Given the description of an element on the screen output the (x, y) to click on. 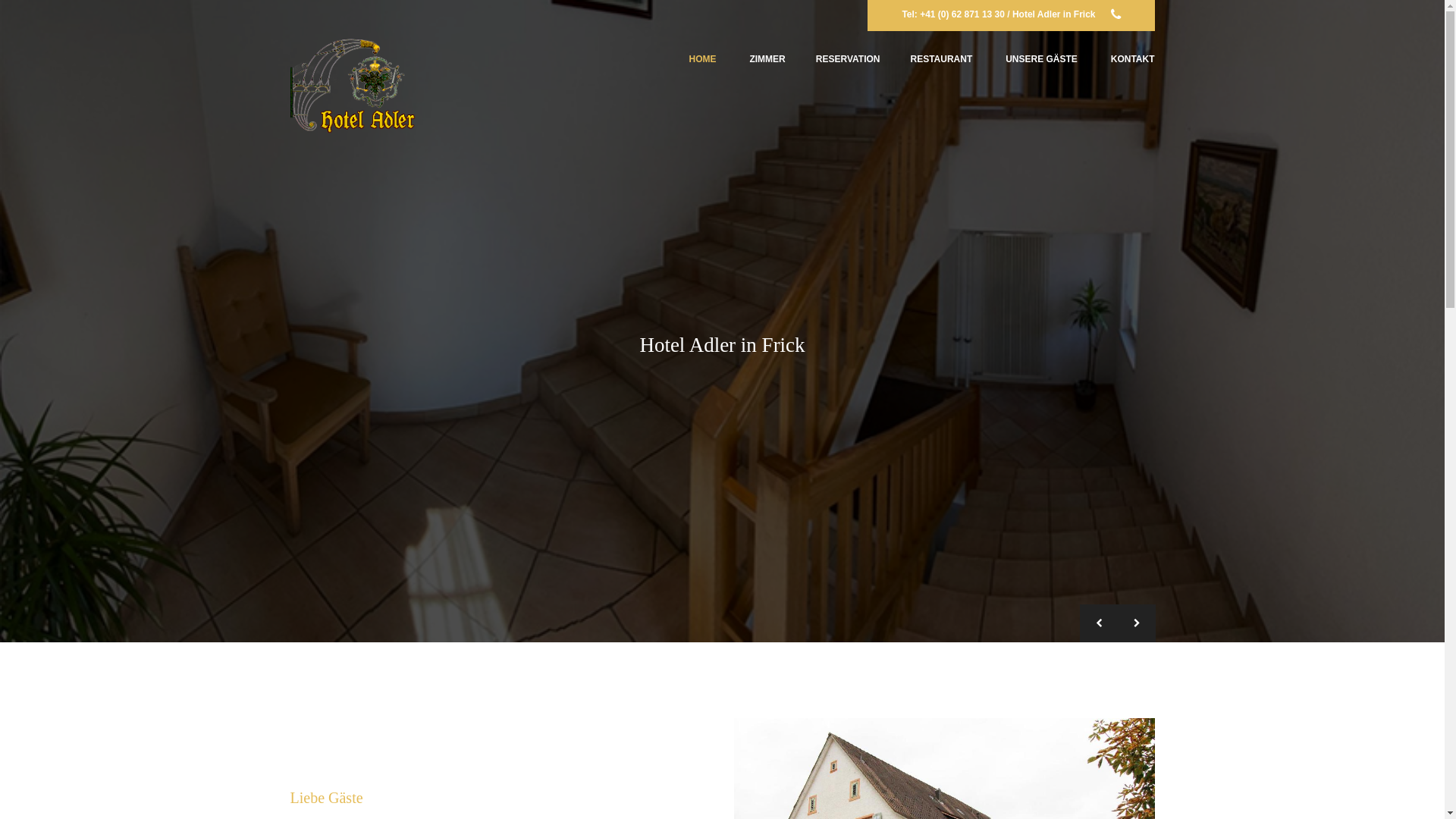
ZIMMER Element type: text (766, 59)
RESERVATION Element type: text (847, 59)
RESTAURANT Element type: text (941, 59)
KONTAKT Element type: text (1132, 59)
HOME Element type: text (702, 59)
